Given the description of an element on the screen output the (x, y) to click on. 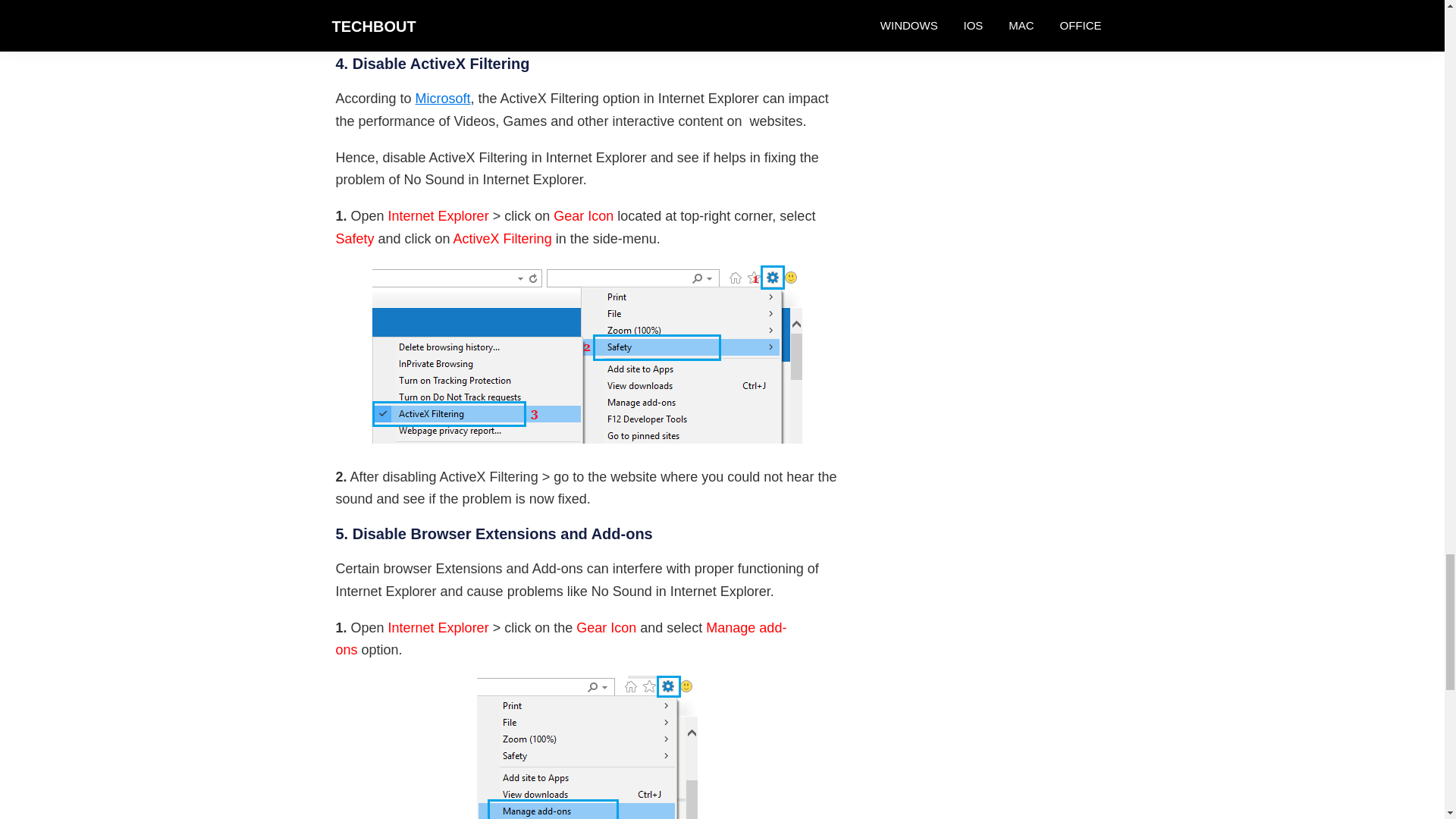
Microsoft (442, 98)
Manage Add-Ons Option in Internet Explorer (586, 747)
Disable ActiveX Filtering in Internet Explorer (586, 353)
